Given the description of an element on the screen output the (x, y) to click on. 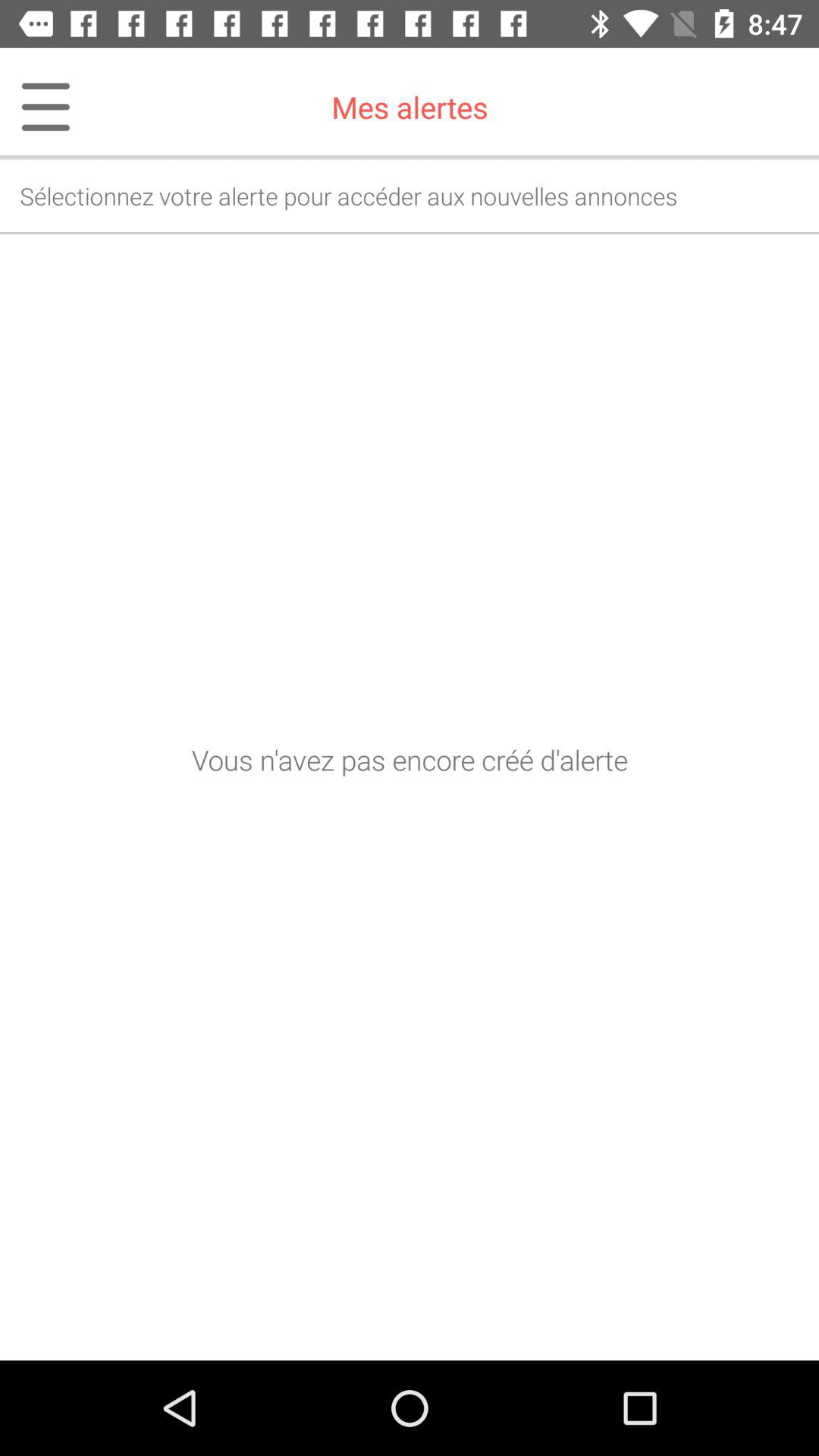
press icon at the top left corner (35, 106)
